Given the description of an element on the screen output the (x, y) to click on. 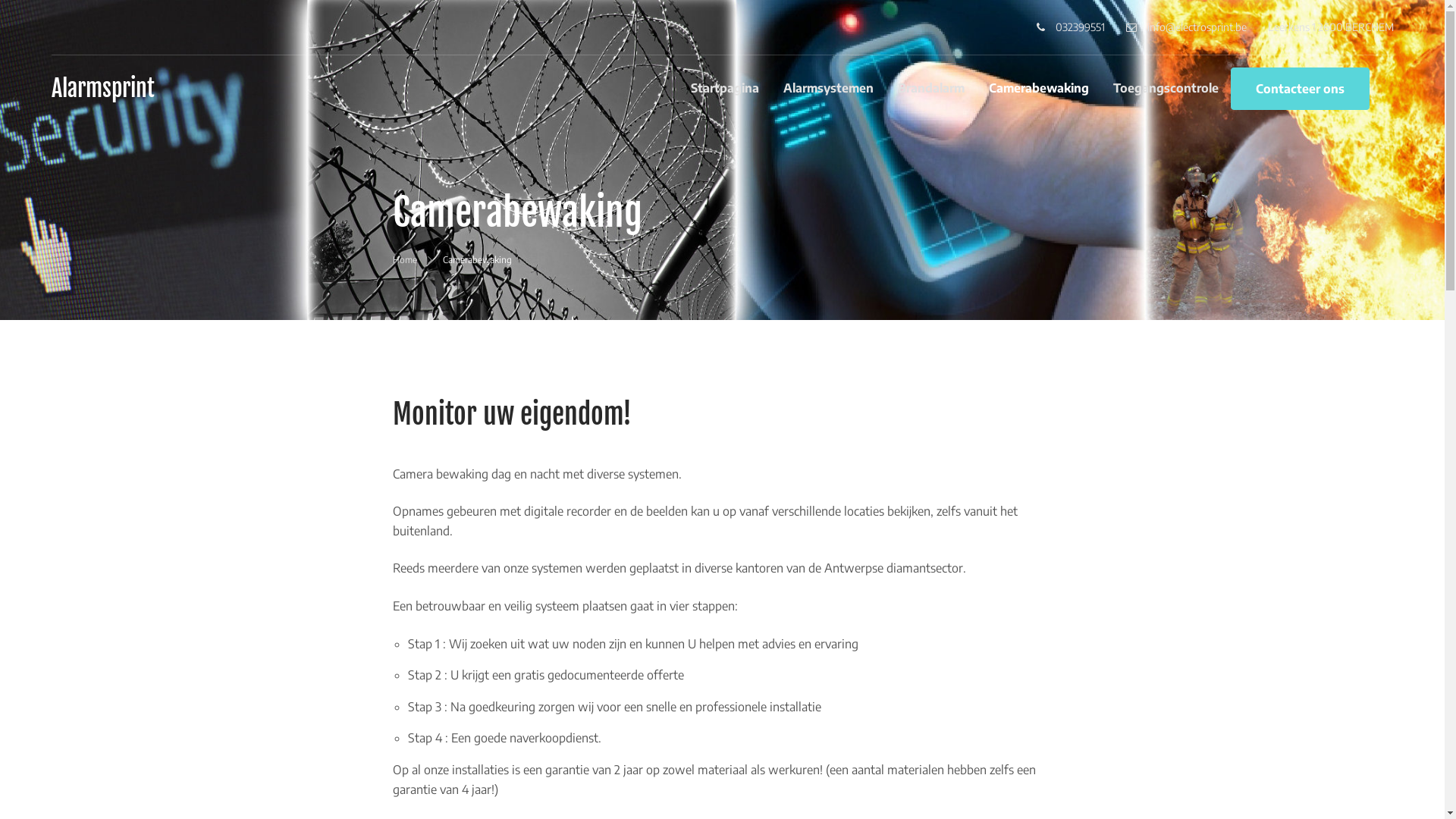
Home Element type: text (404, 259)
Toegangscontrole Element type: text (1165, 87)
Camerabewaking Element type: text (1038, 87)
info@electrosprint.be Element type: text (1185, 27)
Brandalarm Element type: text (930, 87)
Leerkens 1 2600 BERCHEM Element type: text (1330, 26)
Contacteer ons Element type: text (1299, 88)
032399551 Element type: text (1069, 27)
Startpagina Element type: text (730, 87)
Alarmsystemen Element type: text (827, 87)
Alarmsprint Element type: text (102, 88)
